Given the description of an element on the screen output the (x, y) to click on. 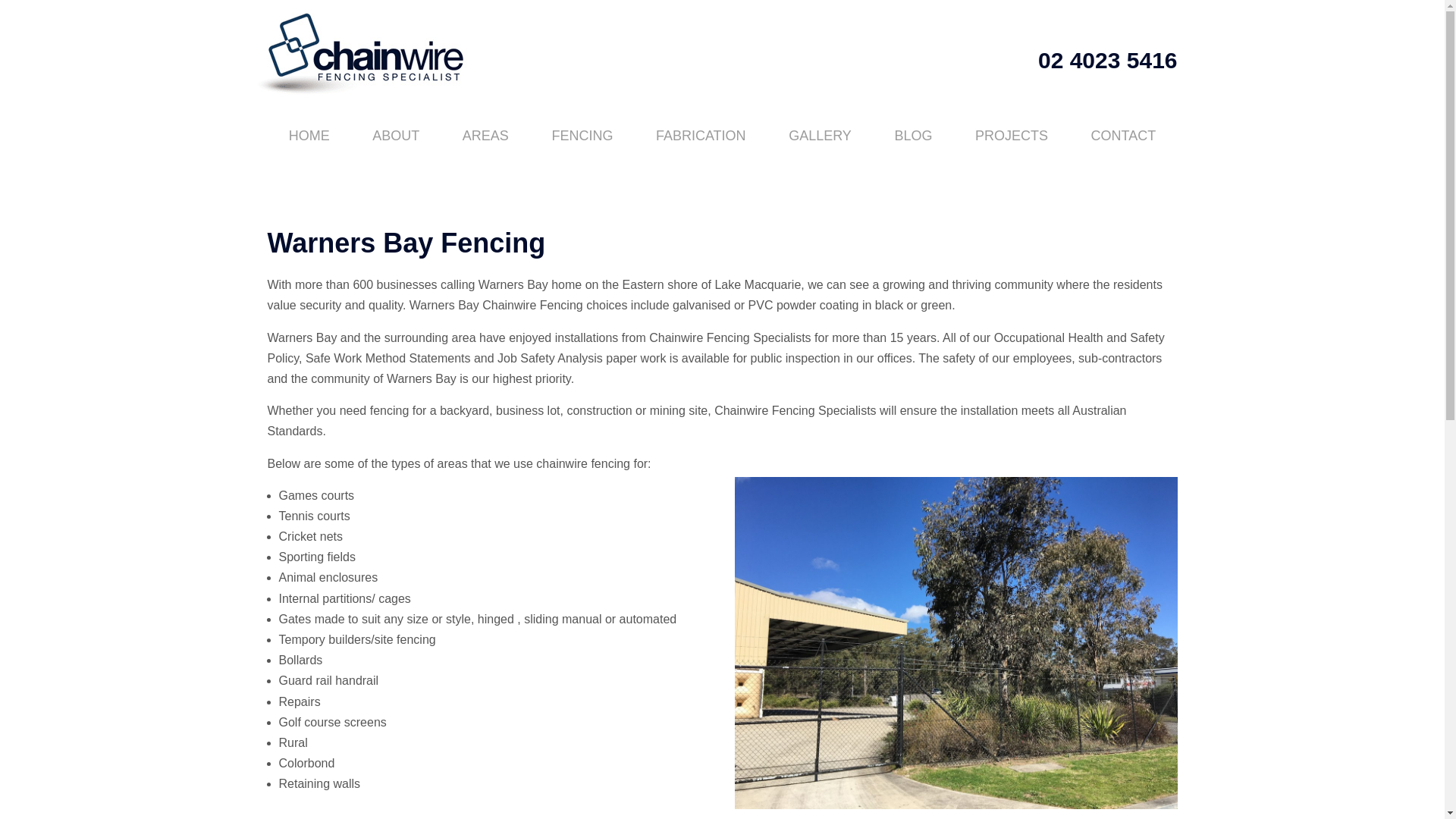
AREAS (486, 135)
ABOUT (395, 135)
CONTACT (1122, 135)
FENCING (581, 135)
FABRICATION (700, 135)
BLOG (912, 135)
HOME (308, 135)
0436 005 801 (505, 818)
PROJECTS (1011, 135)
